Given the description of an element on the screen output the (x, y) to click on. 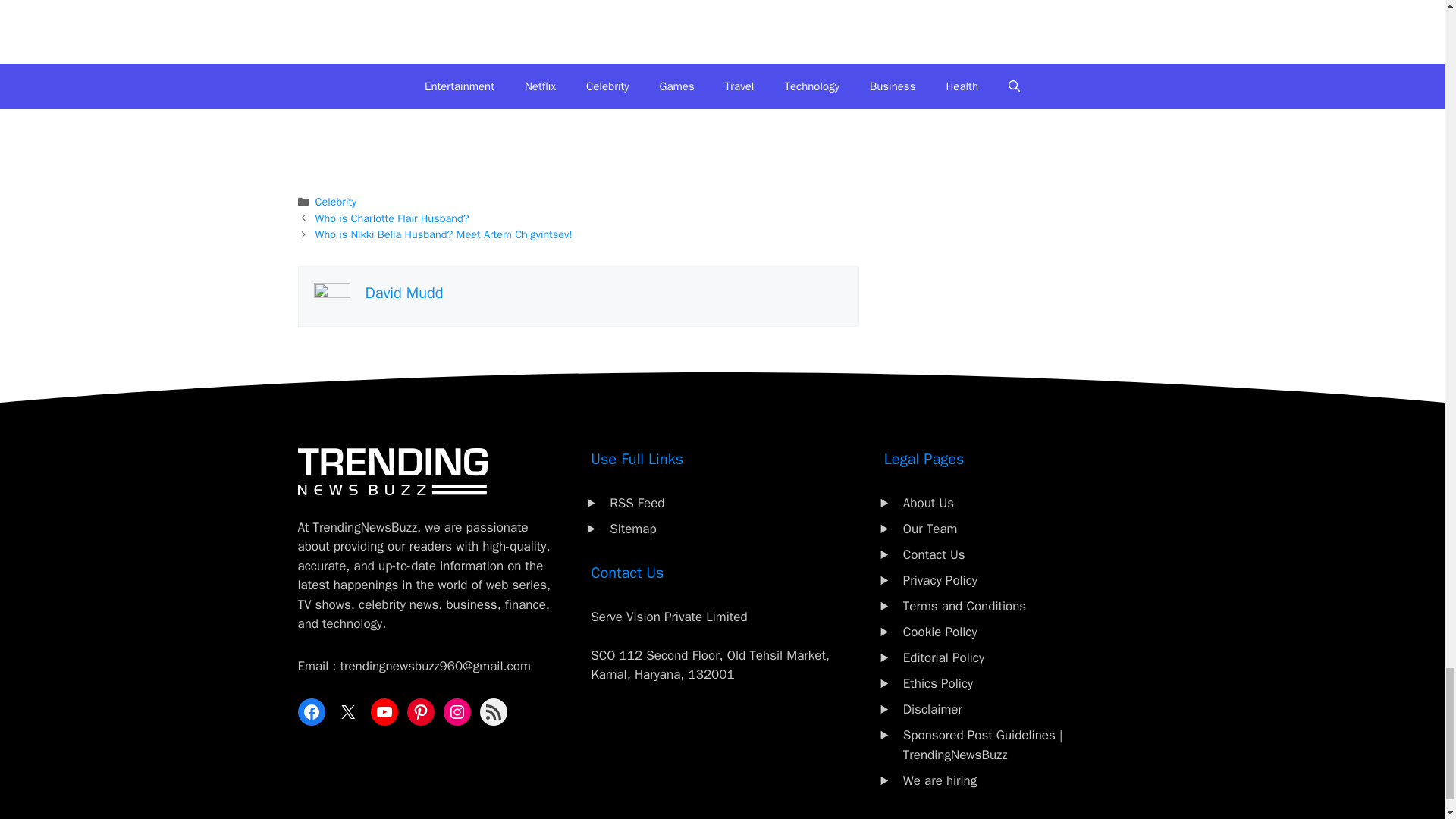
David Mudd (404, 292)
Who is Nikki Bella Husband? Meet Artem Chigvintsev! (443, 233)
Trendingnewsbuzz-white (391, 471)
Who is Charlotte Flair Husband? (391, 218)
Celebrity (335, 201)
